Given the description of an element on the screen output the (x, y) to click on. 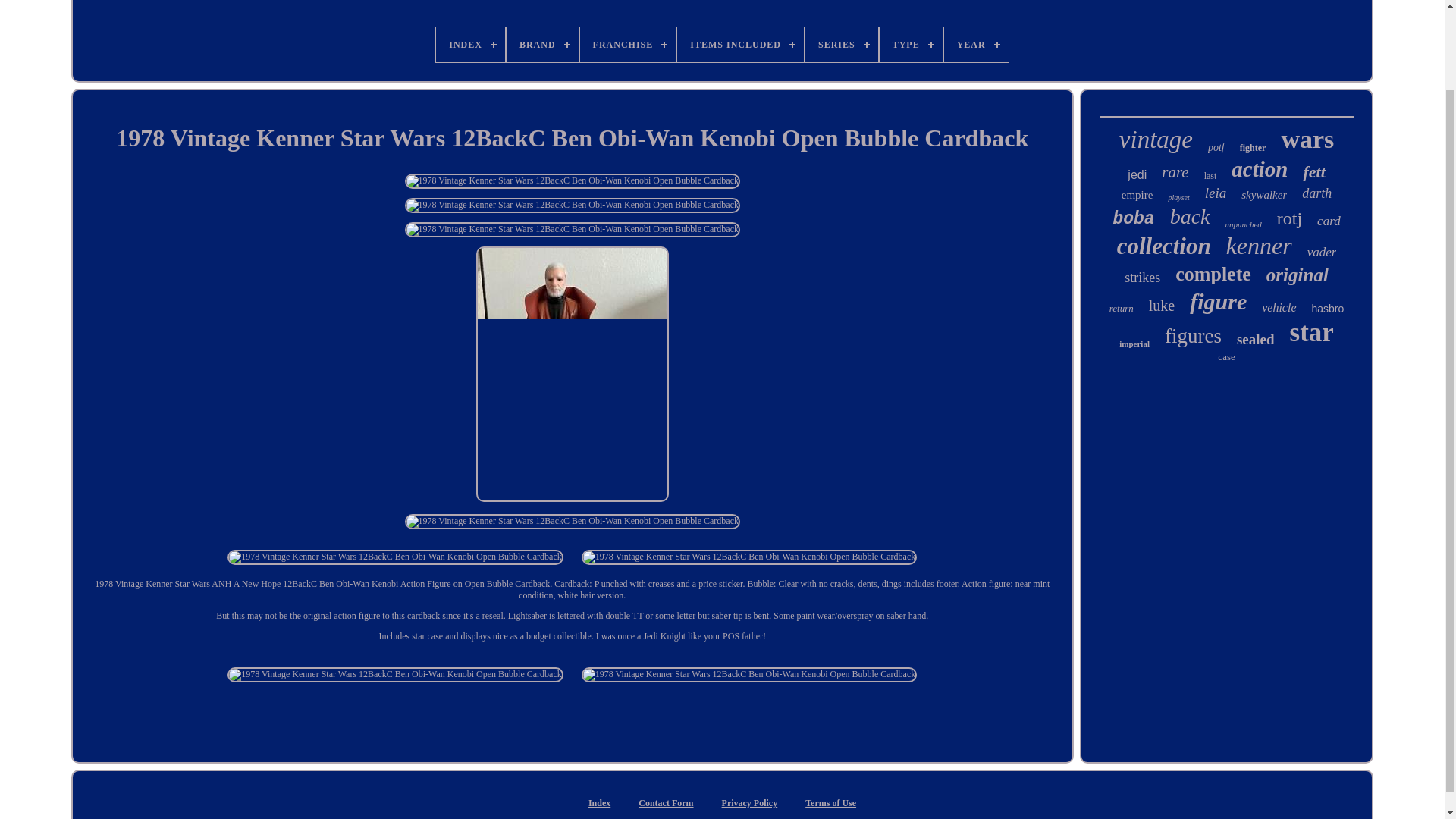
INDEX (470, 44)
ITEMS INCLUDED (740, 44)
FRANCHISE (628, 44)
BRAND (542, 44)
